Given the description of an element on the screen output the (x, y) to click on. 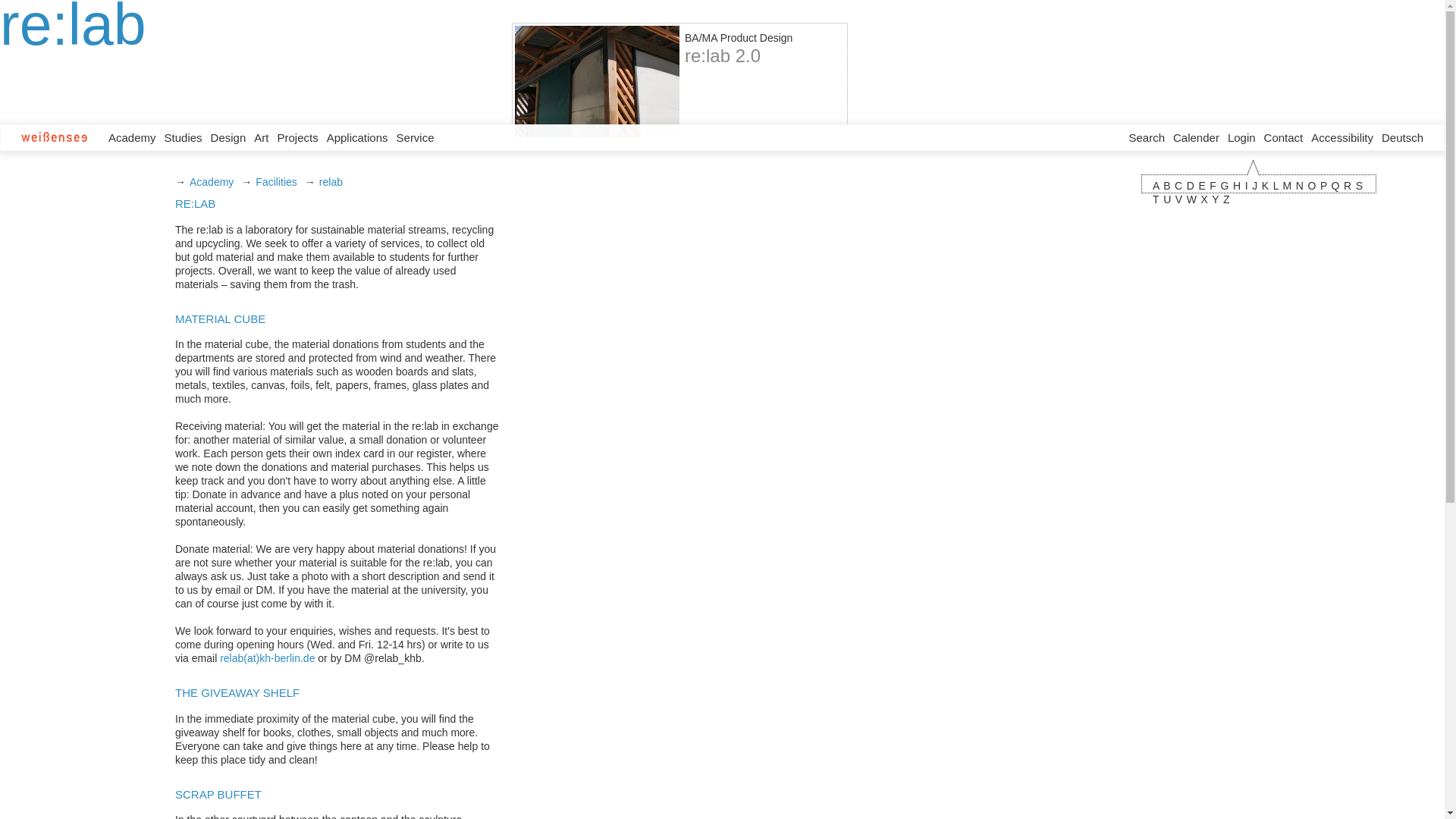
Academy (135, 137)
re:lab 2.0 (722, 55)
